Given the description of an element on the screen output the (x, y) to click on. 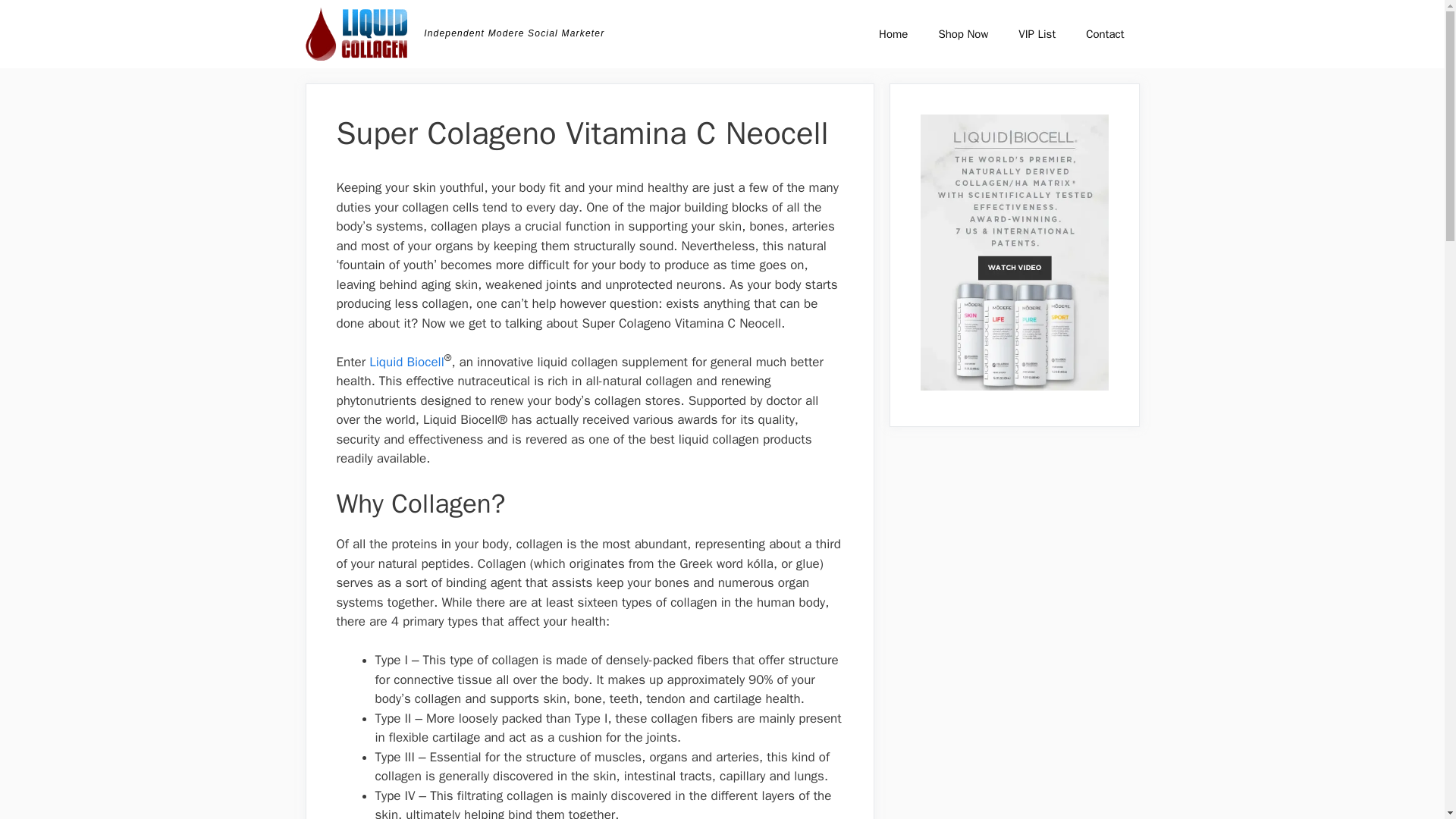
Home (893, 33)
Shop Now (963, 33)
VIP List (1036, 33)
Liquid Biocell (406, 361)
Contact (1104, 33)
BestLiquidCollagen.com (355, 33)
BestLiquidCollagen.com (359, 33)
